Given the description of an element on the screen output the (x, y) to click on. 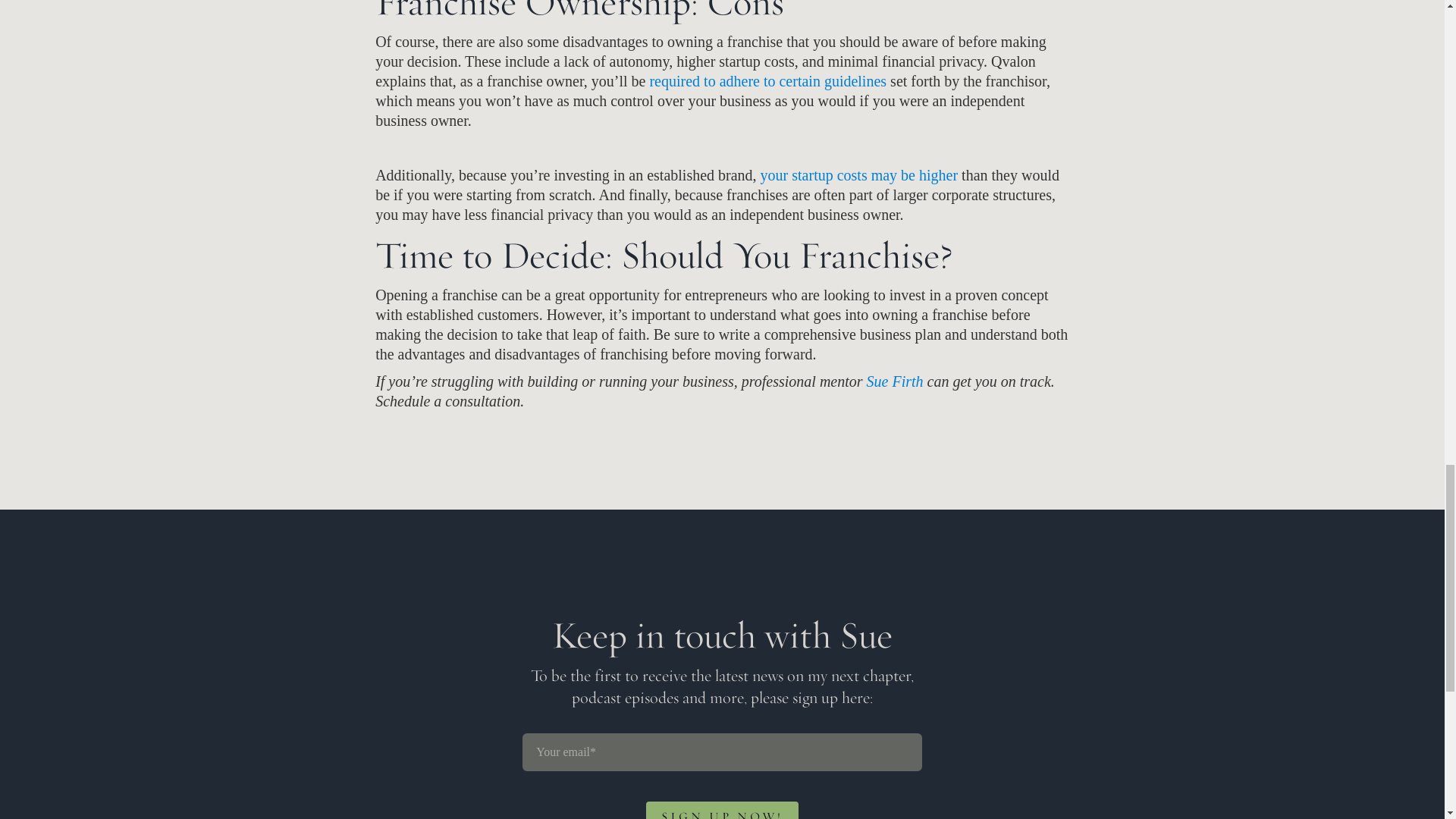
SIGN UP NOW! (721, 776)
